Given the description of an element on the screen output the (x, y) to click on. 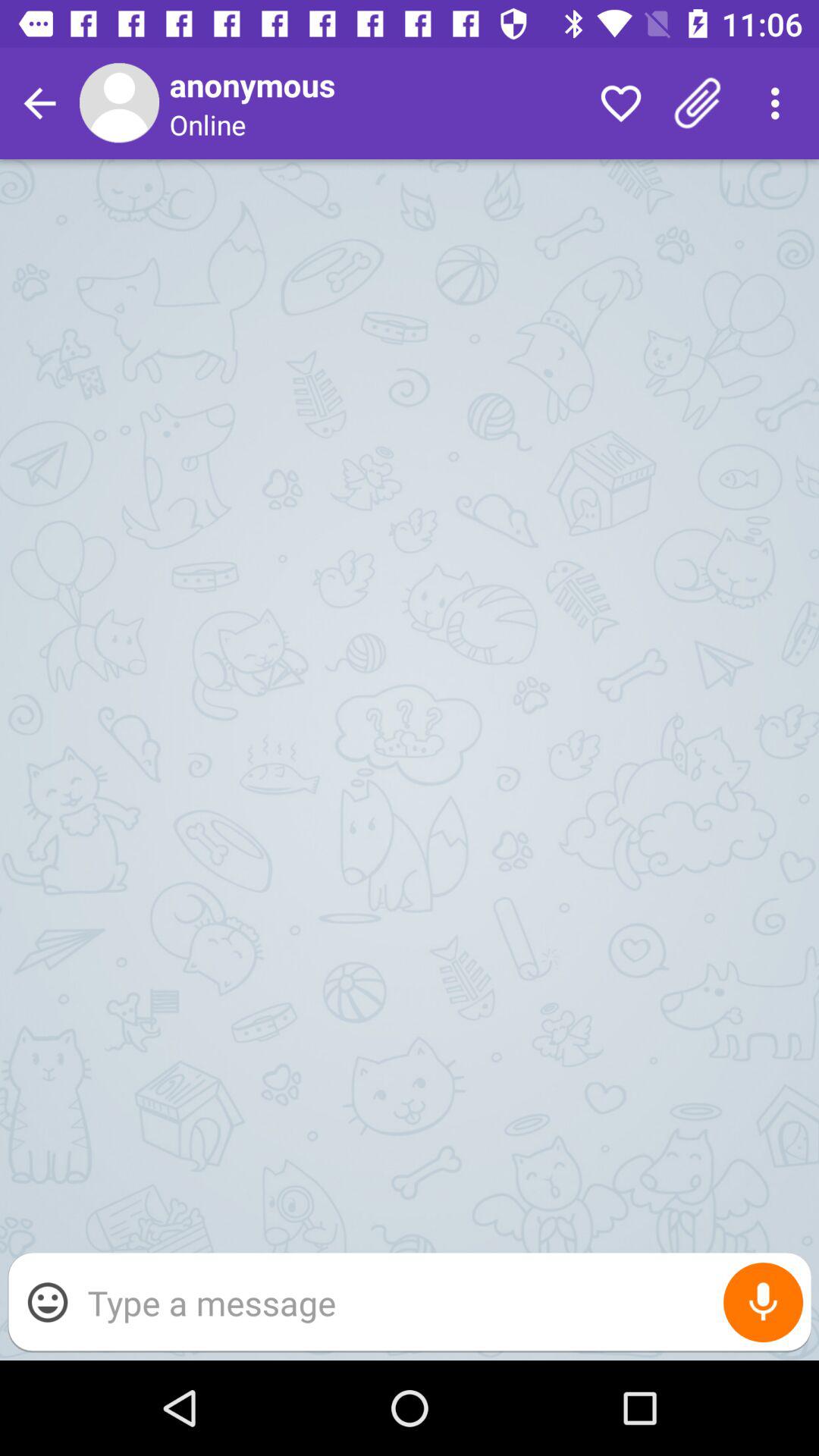
type a message (441, 1302)
